Given the description of an element on the screen output the (x, y) to click on. 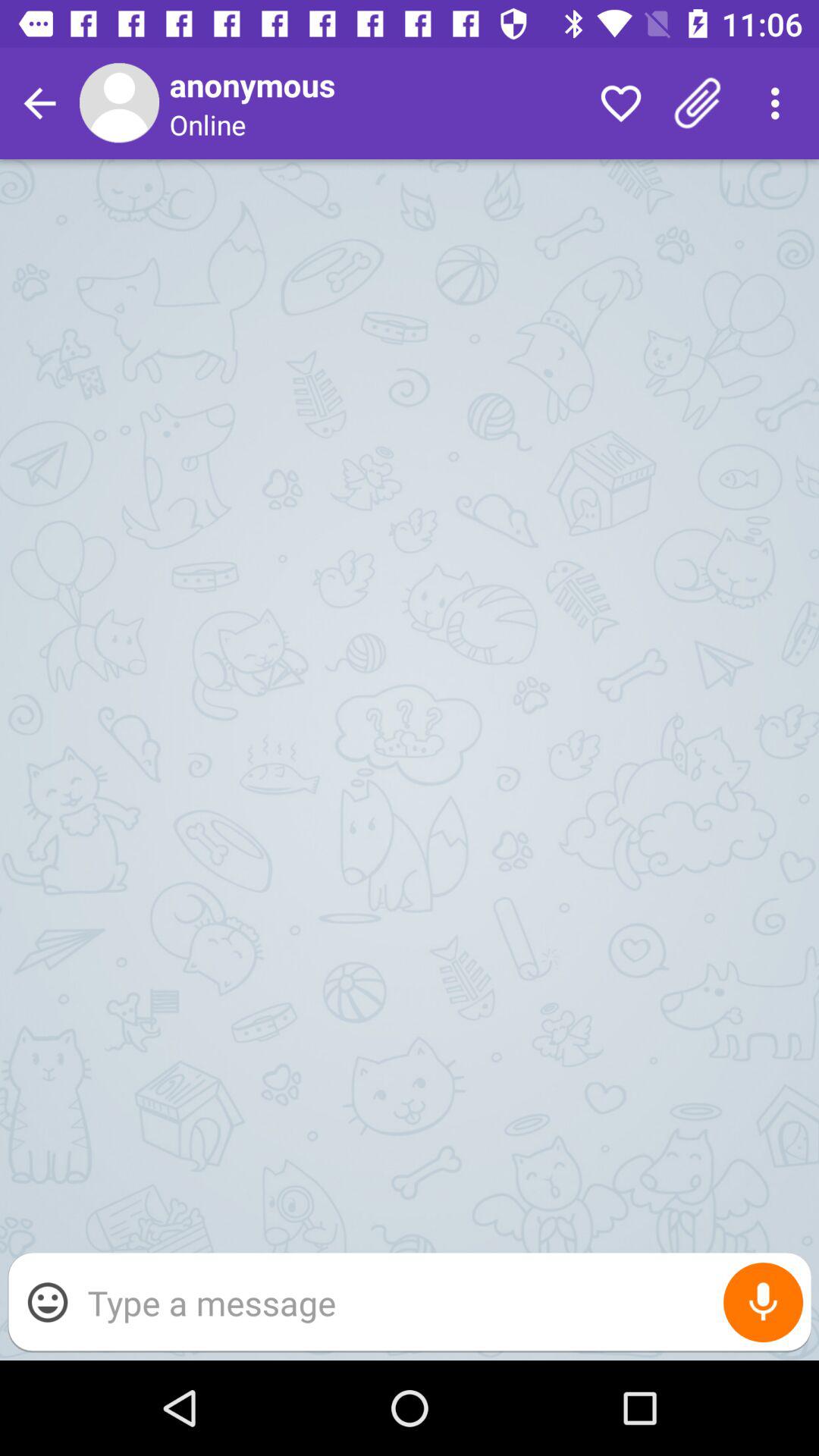
type a message (441, 1302)
